Given the description of an element on the screen output the (x, y) to click on. 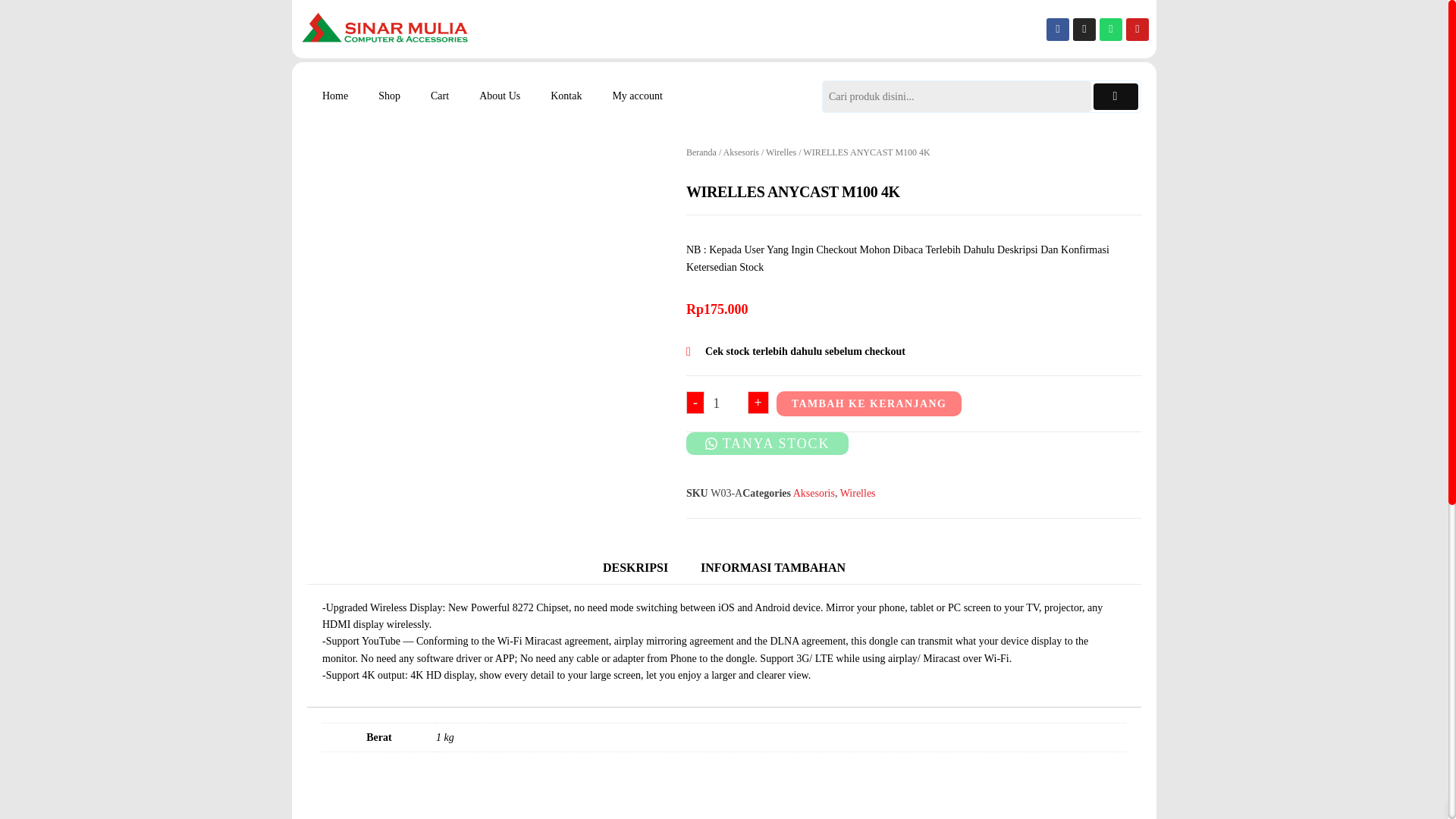
Cart (439, 95)
INFORMASI TAMBAHAN (772, 567)
My account (636, 95)
About Us (499, 95)
Search (956, 96)
1 (722, 403)
Aksesoris (813, 492)
TANYA STOCK (766, 443)
TAMBAH KE KERANJANG (868, 403)
Wirelles (858, 492)
